Given the description of an element on the screen output the (x, y) to click on. 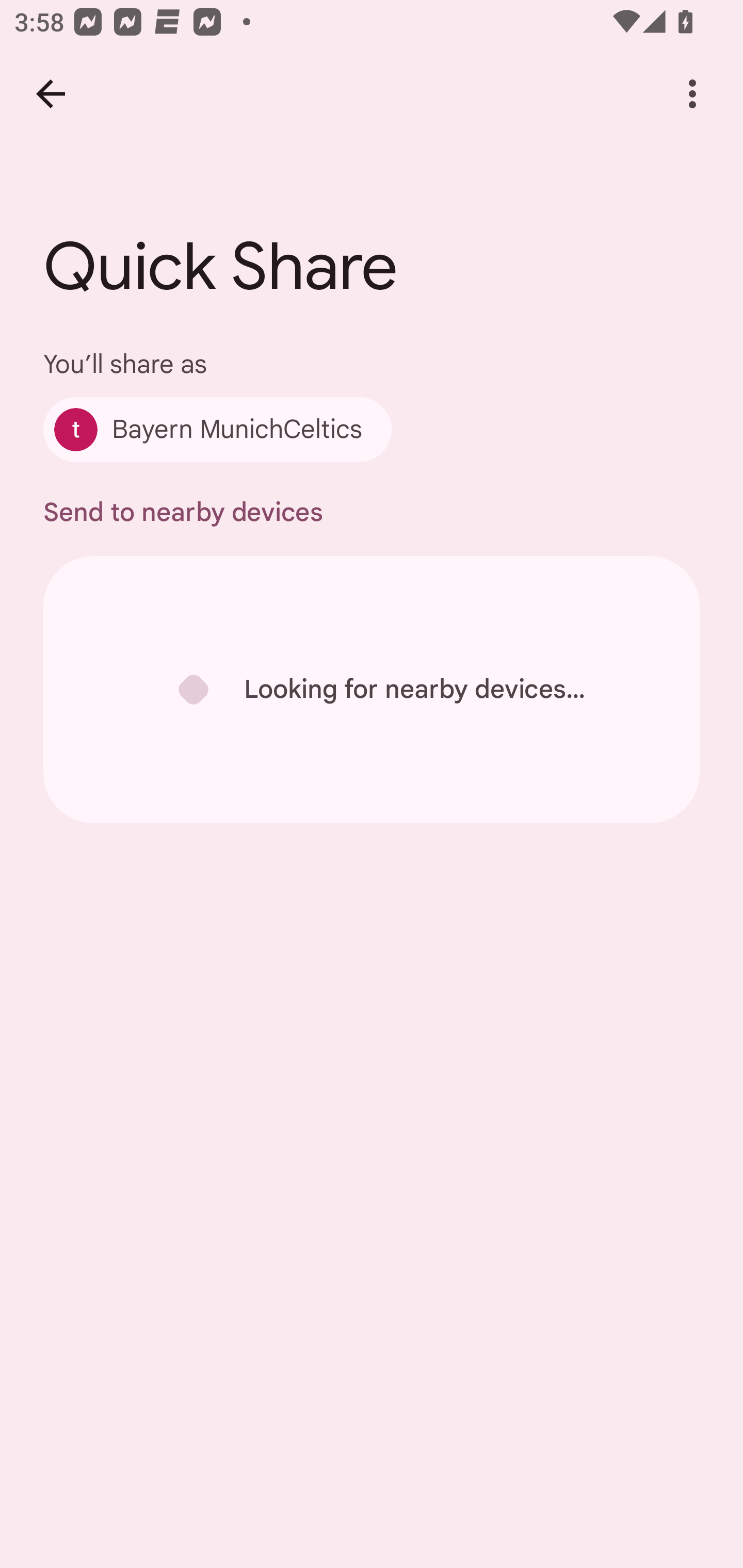
Back (50, 93)
More (692, 93)
Bayern MunichCeltics (217, 429)
